Given the description of an element on the screen output the (x, y) to click on. 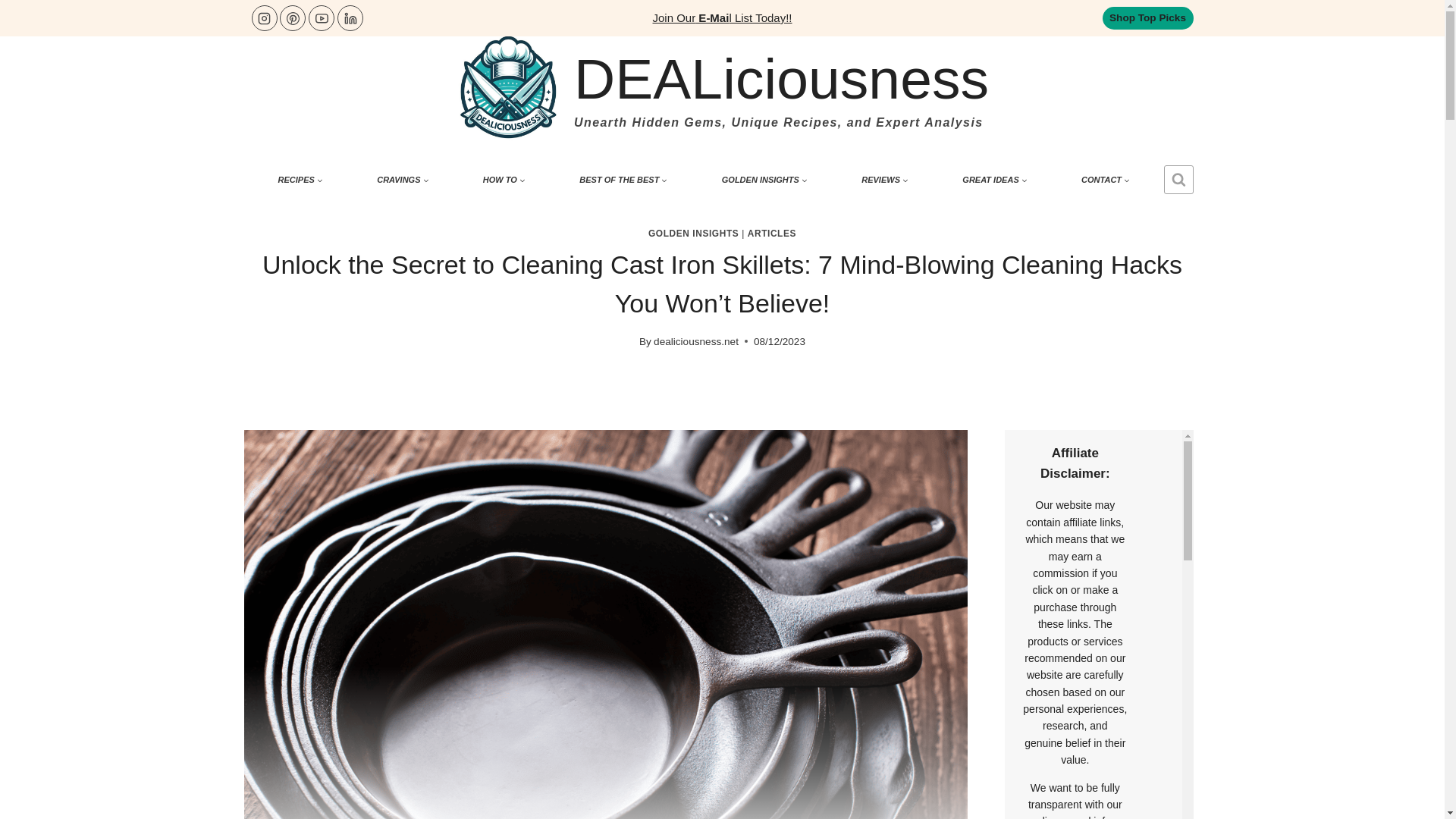
Join Our E-Mail List Today!! (722, 17)
Shop Top Picks (1147, 17)
RECIPES (300, 179)
